Given the description of an element on the screen output the (x, y) to click on. 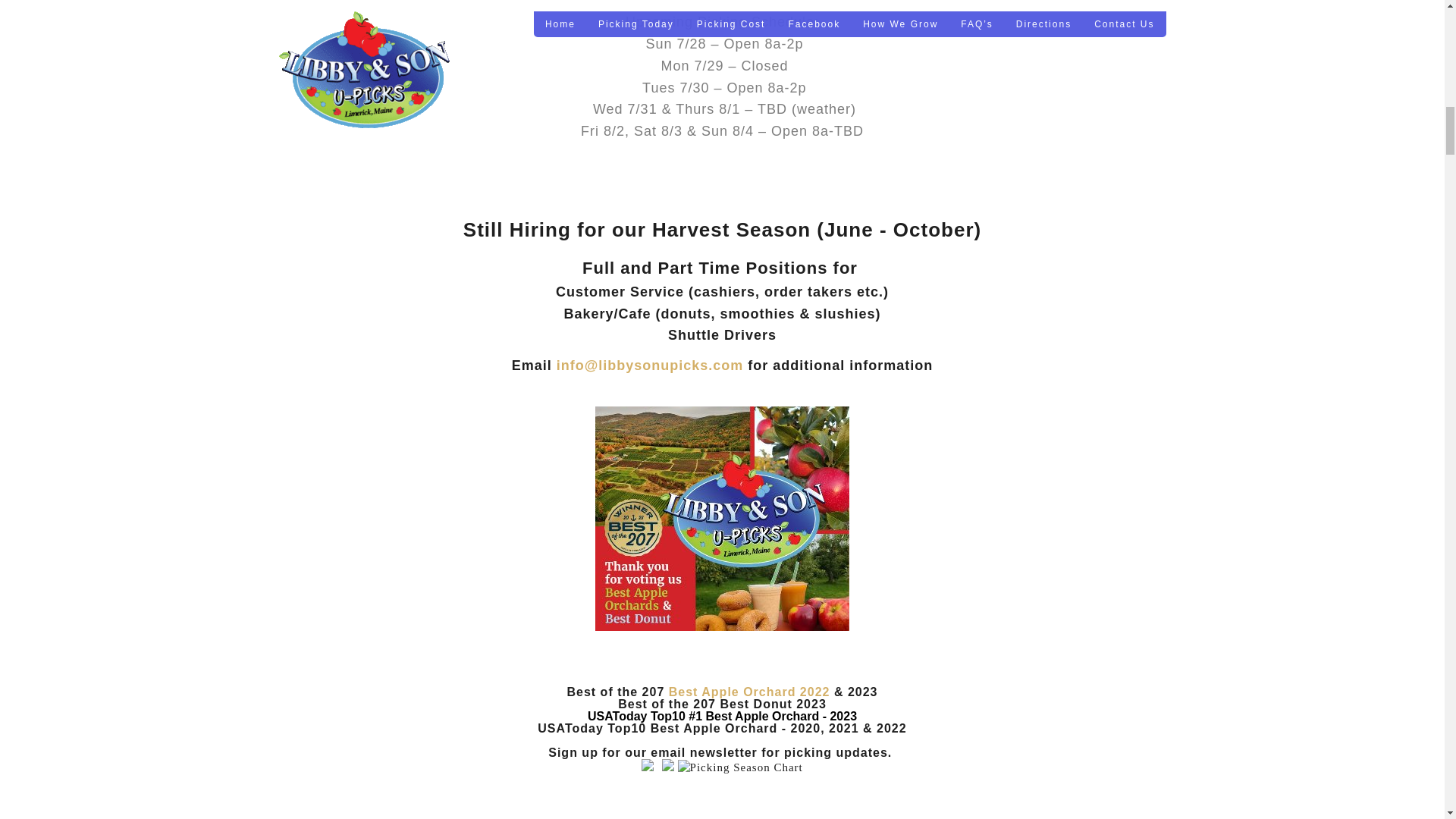
Best Apple Orchard 2022 (748, 691)
